Given the description of an element on the screen output the (x, y) to click on. 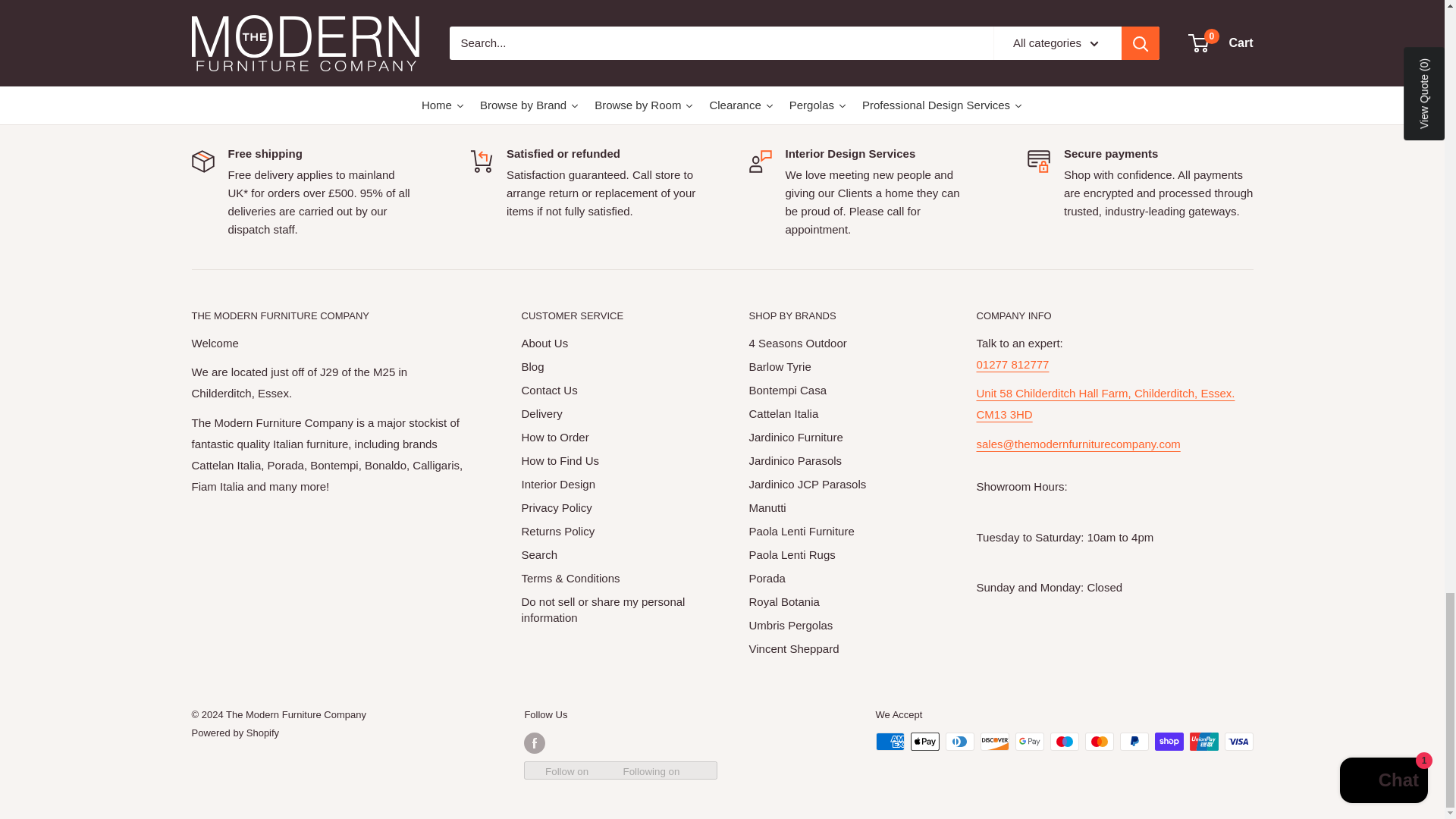
Email Us (1078, 454)
Location Map (1105, 403)
